Given the description of an element on the screen output the (x, y) to click on. 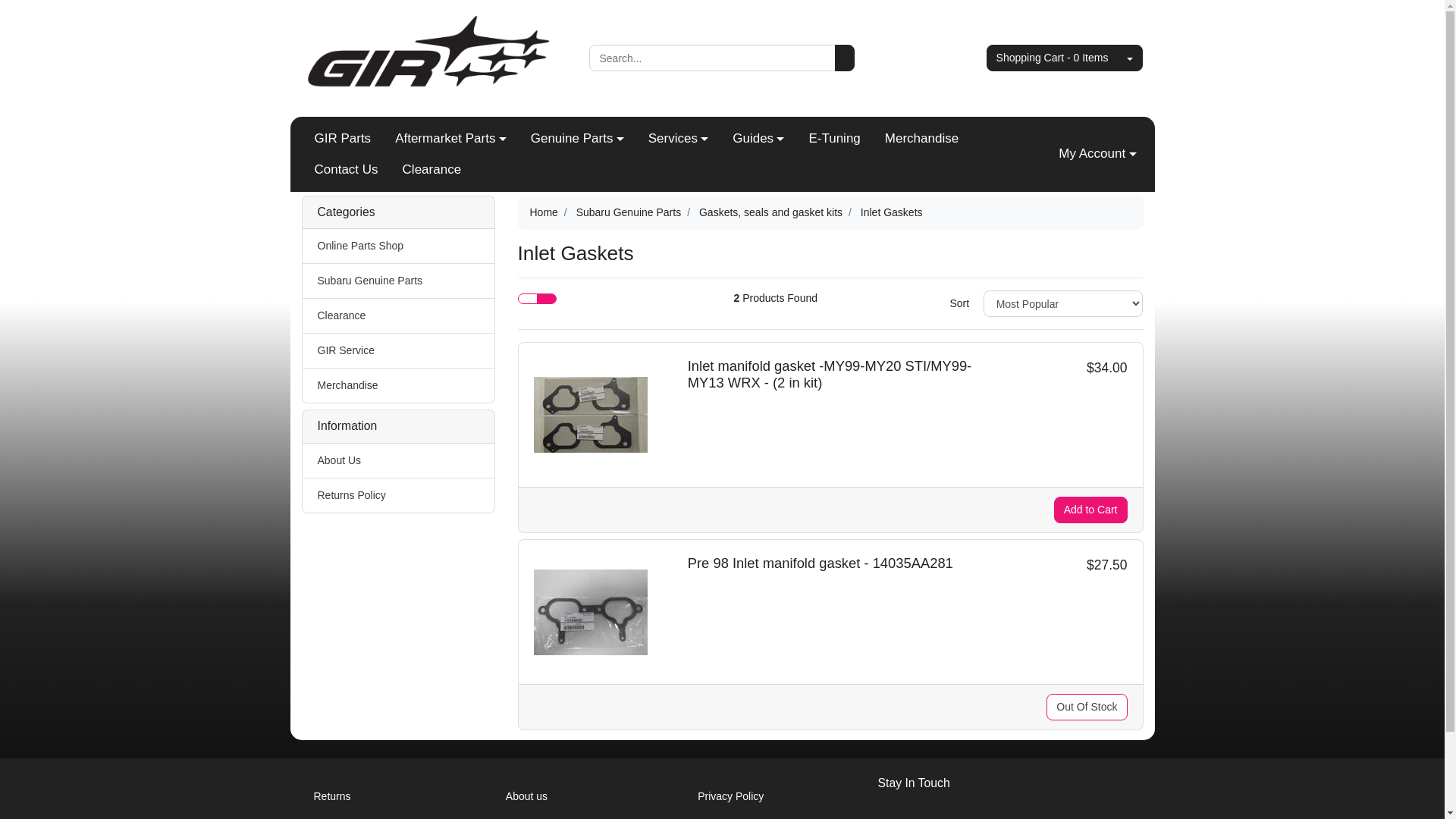
Home Element type: text (543, 212)
Pre 98 Inlet manifold gasket - 14035AA281 Element type: text (820, 563)
About us Element type: text (577, 796)
Returns Element type: text (385, 796)
Returns Policy Element type: text (397, 495)
Genuine Parts Element type: text (577, 138)
Merchandise Element type: text (397, 385)
Contact Us Element type: text (345, 169)
Aftermarket Parts Element type: text (450, 138)
Out Of Stock Element type: text (1086, 706)
About Us Element type: text (397, 460)
GIR Service Element type: text (397, 350)
GotItRex Element type: hover (434, 57)
Online Parts Shop Element type: text (397, 246)
Add to Cart Element type: text (1090, 509)
Inlet Gaskets Element type: text (891, 212)
Shopping Cart - 0 Items Element type: text (1052, 57)
GIR Parts Element type: text (341, 138)
Skip to main content Element type: text (0, 0)
Clearance Element type: text (431, 169)
Clearance Element type: text (397, 315)
My Account Element type: text (1097, 153)
Subaru Genuine Parts Element type: text (628, 212)
Merchandise Element type: text (921, 138)
Gaskets, seals and gasket kits Element type: text (770, 212)
Subaru Genuine Parts Element type: text (397, 280)
E-Tuning Element type: text (834, 138)
Privacy Policy Element type: text (769, 796)
Search Element type: text (844, 57)
Guides Element type: text (758, 138)
Services Element type: text (678, 138)
